Given the description of an element on the screen output the (x, y) to click on. 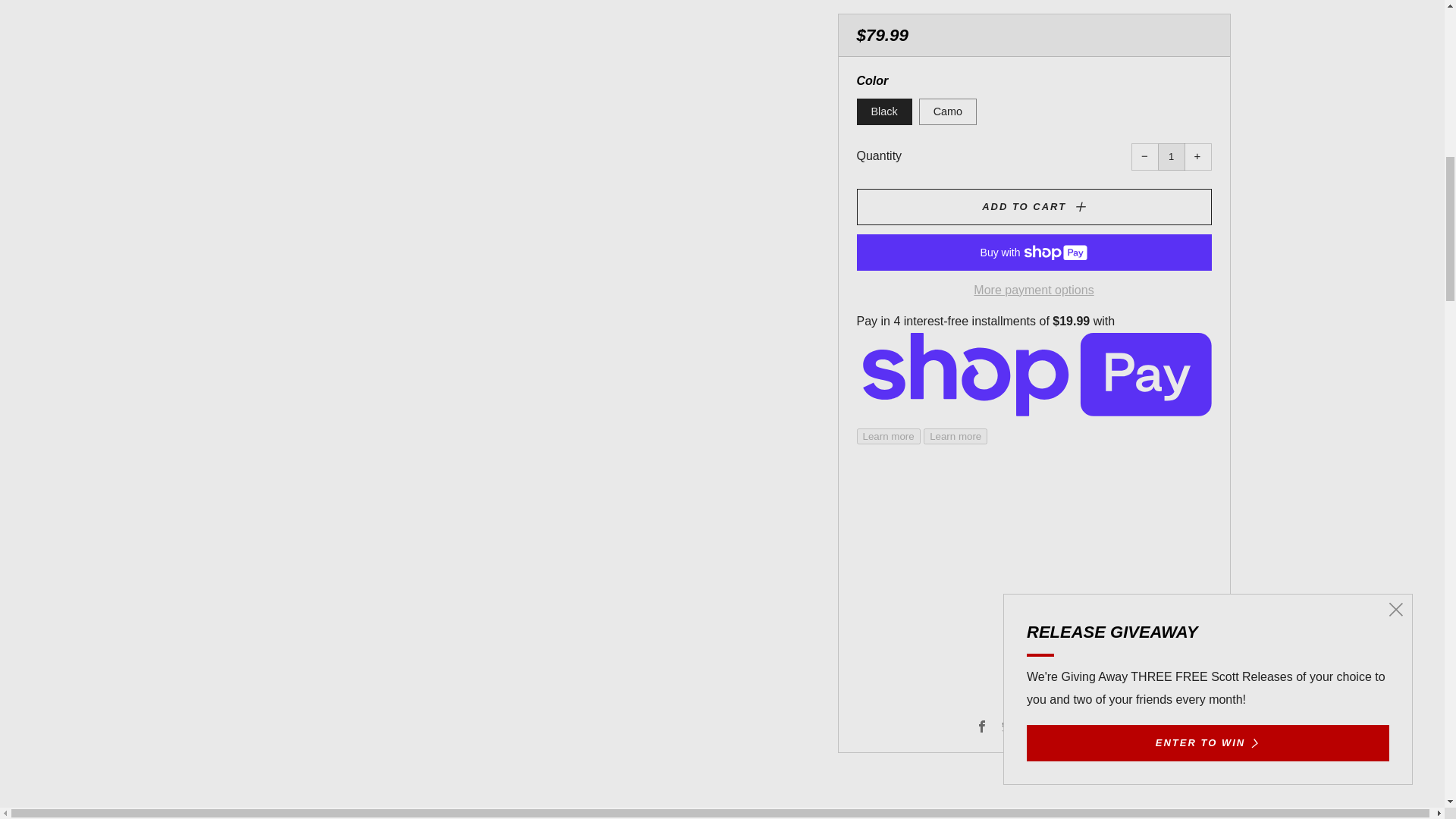
Form 0 (1033, 80)
